Given the description of an element on the screen output the (x, y) to click on. 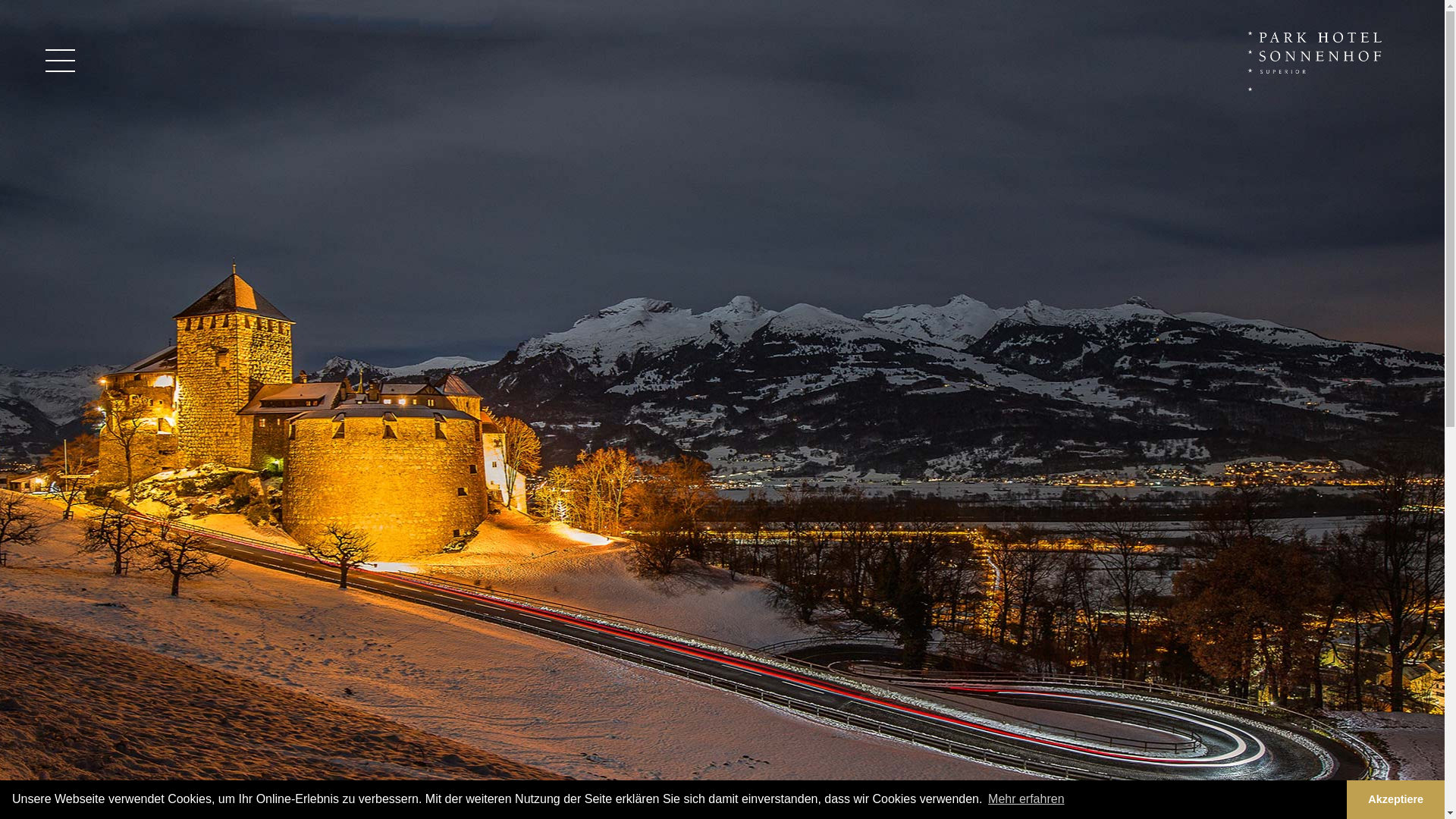
Mehr erfahren Element type: text (1025, 798)
Boutique Hotel Schweiz Element type: hover (1317, 60)
